Given the description of an element on the screen output the (x, y) to click on. 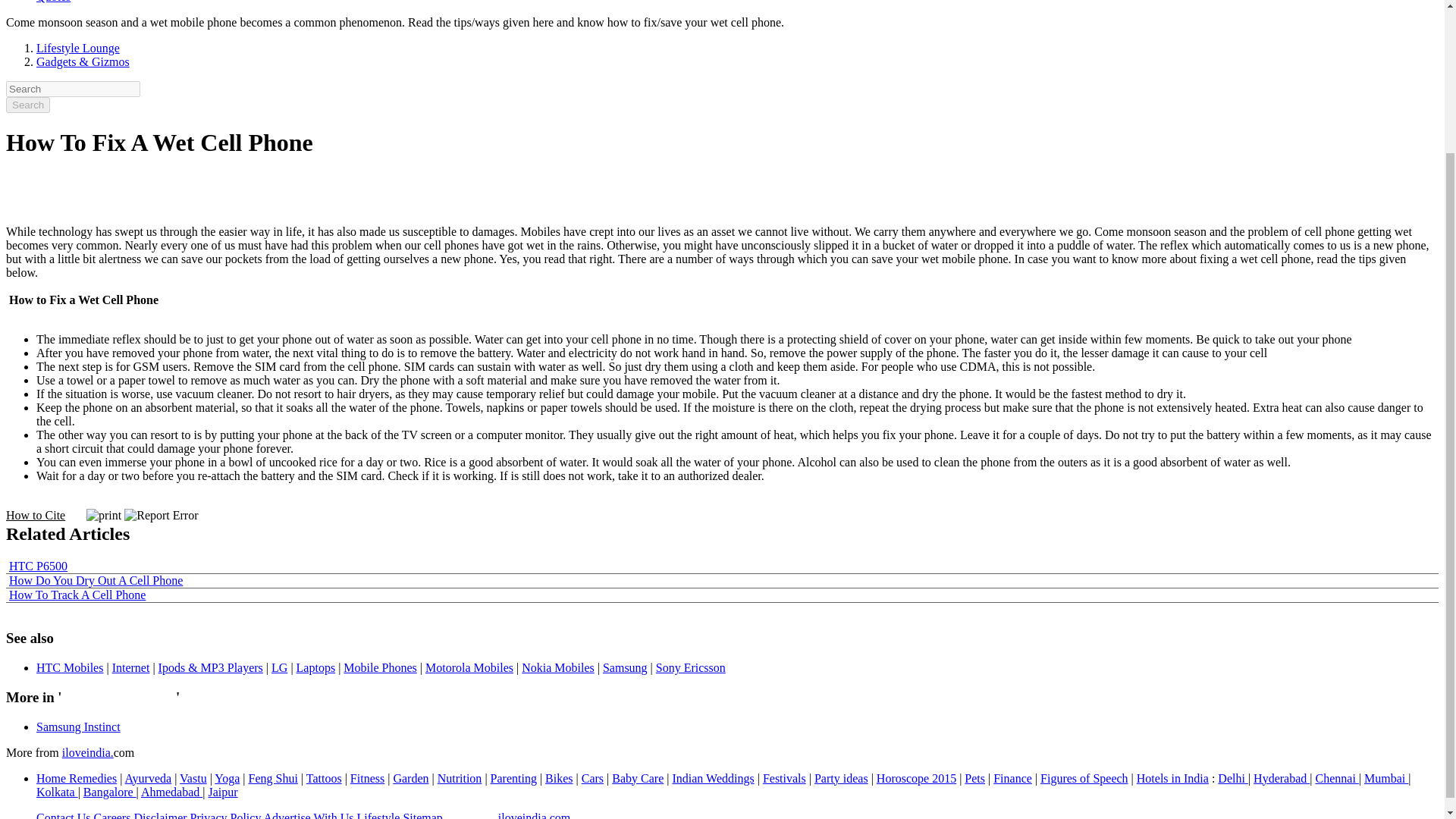
HTC Mobiles (69, 667)
Internet (130, 667)
Lifestyle Lounge (77, 47)
Motorola Mobiles (469, 667)
How Do You Dry Out A Cell Phone (95, 580)
Sony Ericsson (690, 667)
HTC P6500 (37, 565)
Quotes (52, 1)
Mobile Phones (379, 667)
Nokia Mobiles (557, 667)
